Given the description of an element on the screen output the (x, y) to click on. 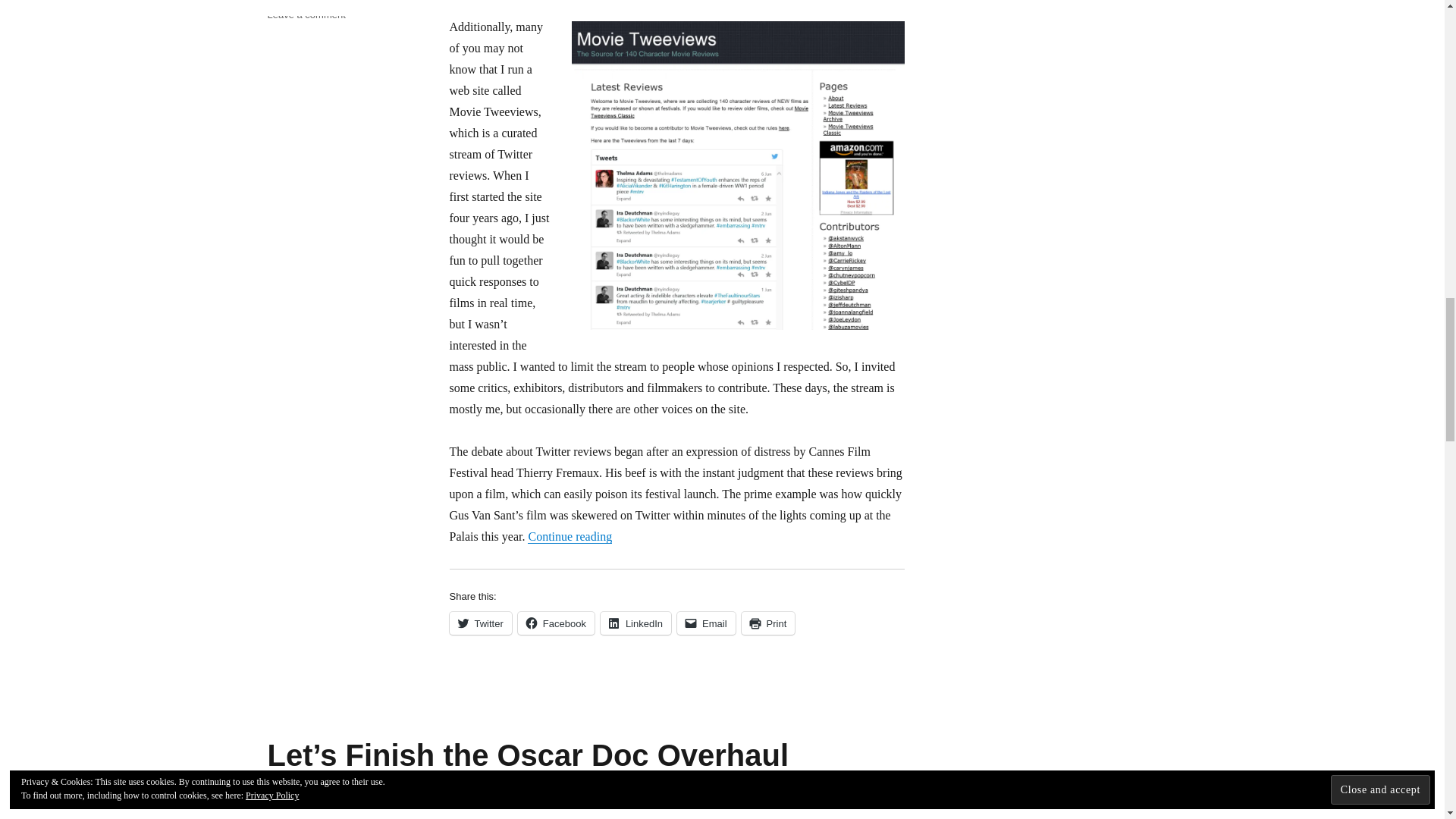
Click to share on Twitter (479, 622)
Click to print (767, 622)
Click to share on Facebook (556, 622)
Click to share on LinkedIn (635, 622)
Click to email a link to a friend (706, 622)
